Given the description of an element on the screen output the (x, y) to click on. 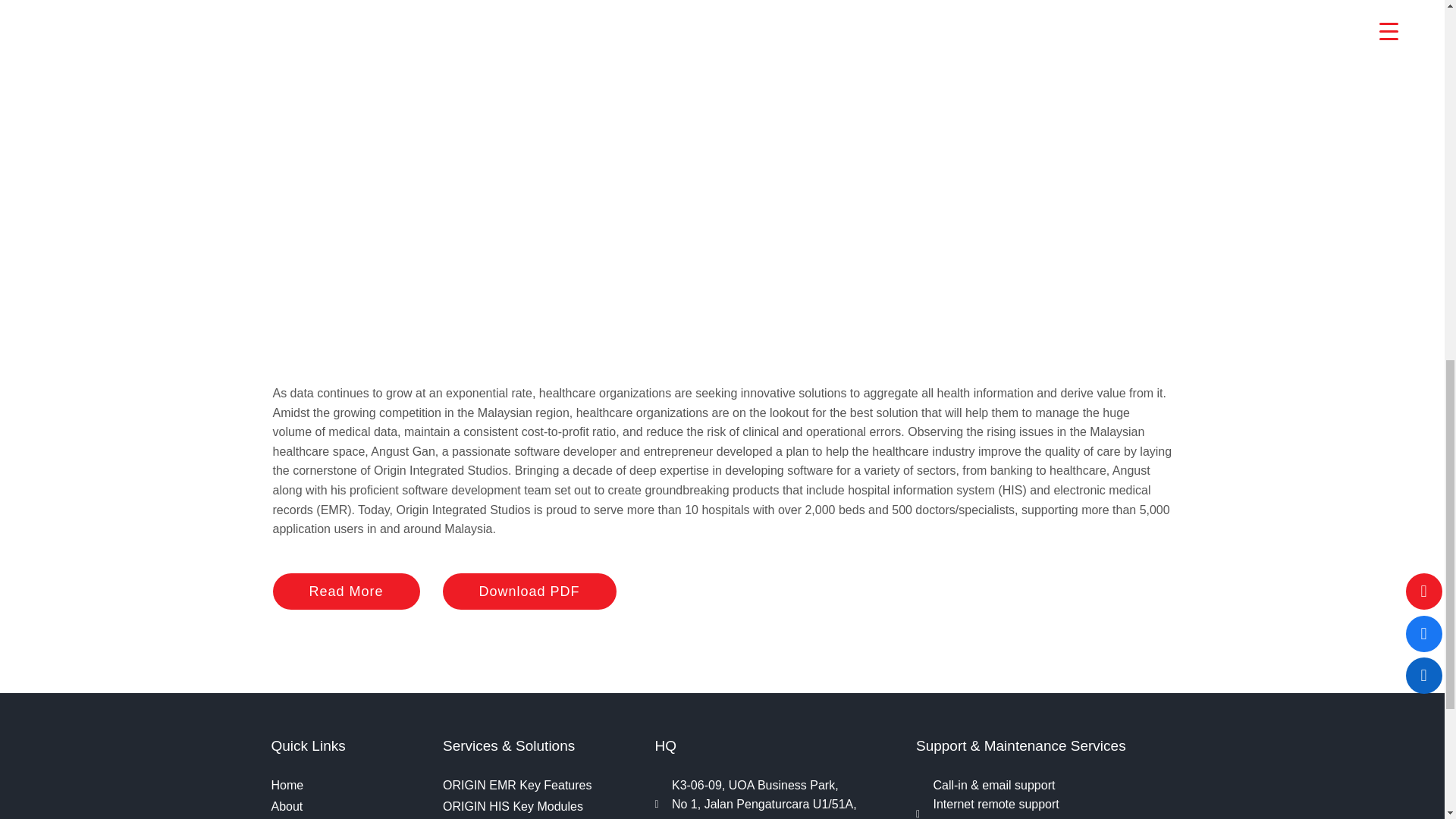
Read More (346, 591)
Home (349, 785)
About (349, 806)
Download PDF (528, 591)
